Given the description of an element on the screen output the (x, y) to click on. 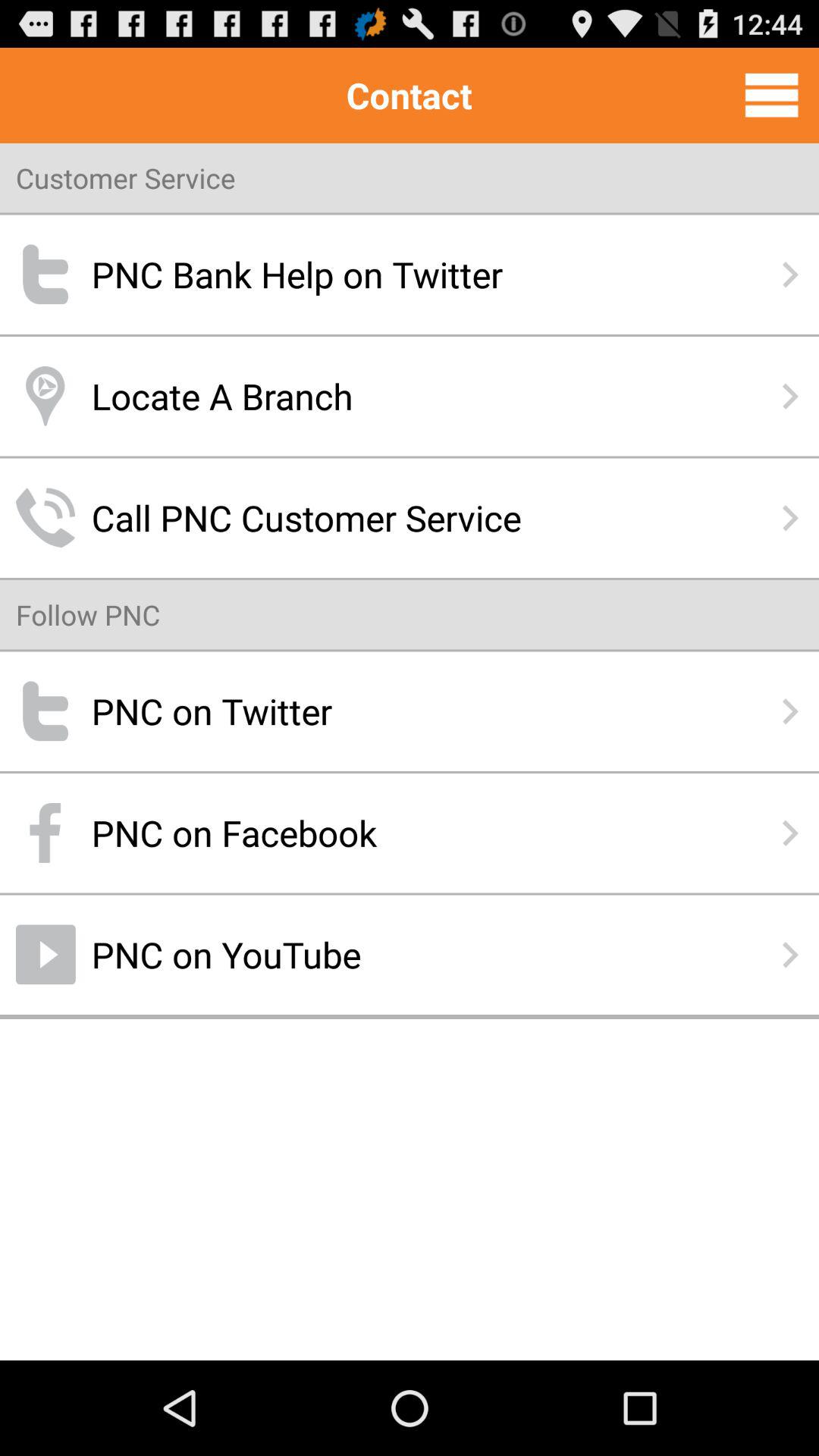
settings (771, 95)
